Given the description of an element on the screen output the (x, y) to click on. 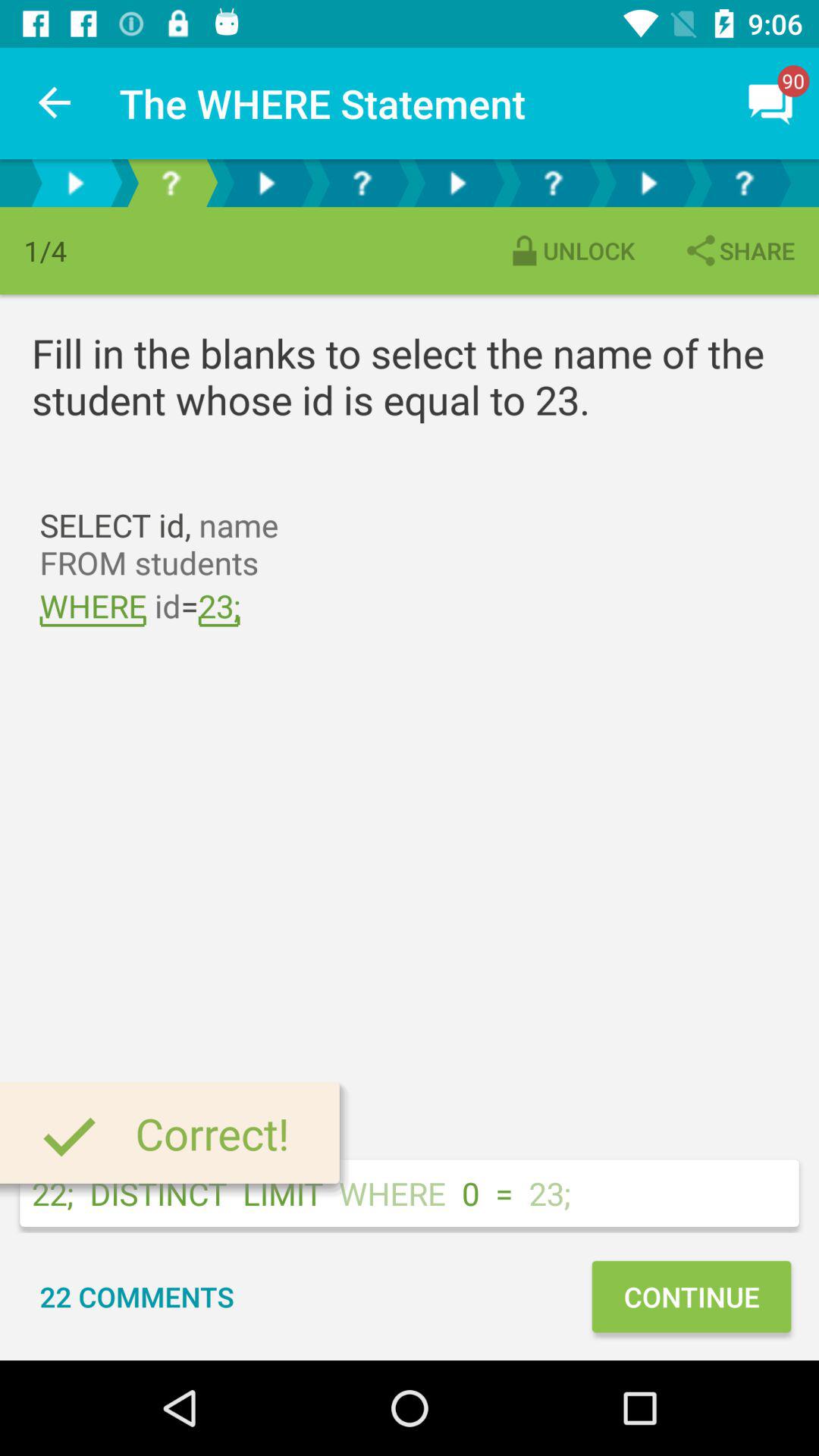
play button (457, 183)
